Given the description of an element on the screen output the (x, y) to click on. 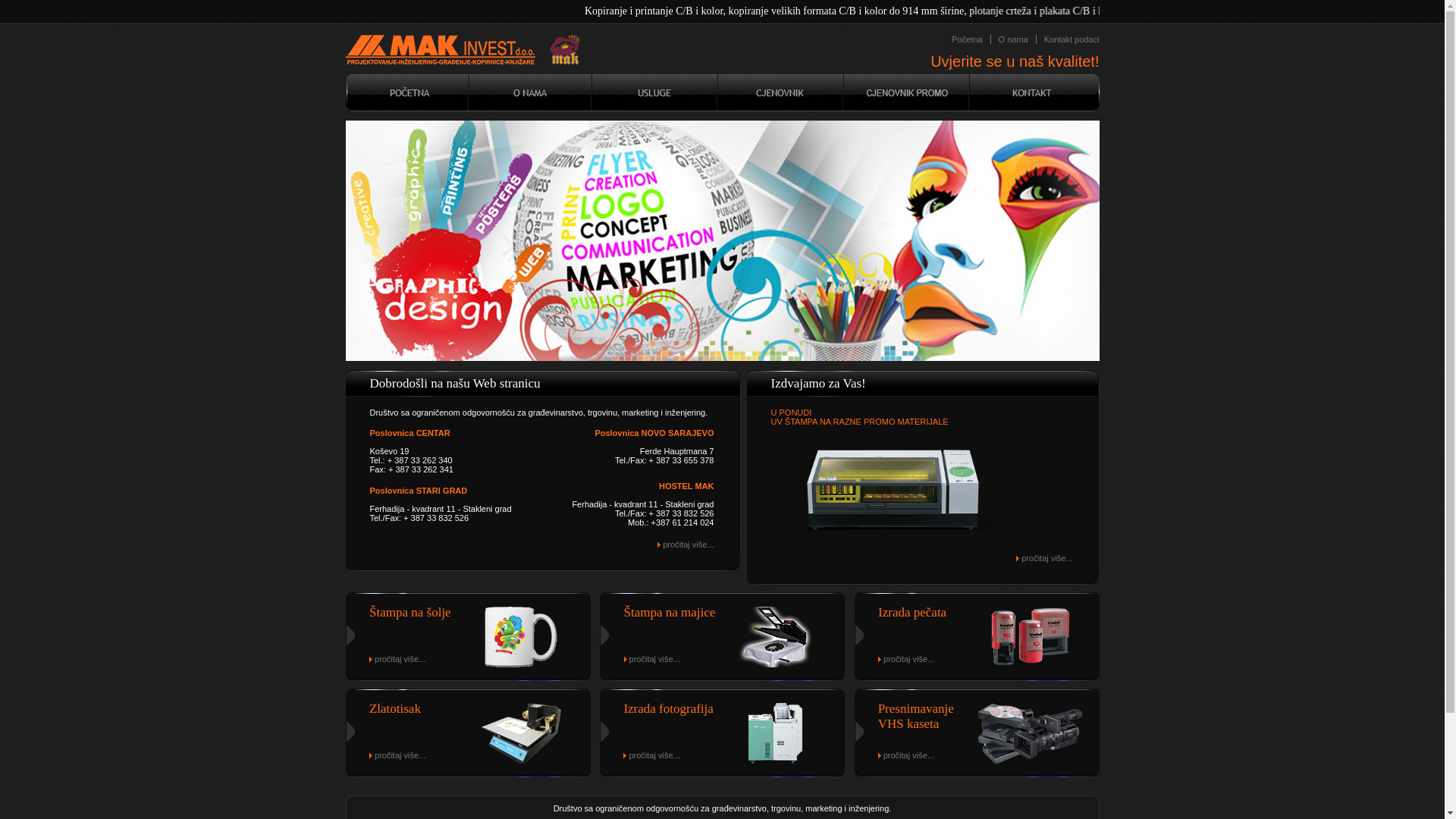
O nama Element type: text (1013, 38)
Kontakt podaci Element type: text (1067, 38)
